Given the description of an element on the screen output the (x, y) to click on. 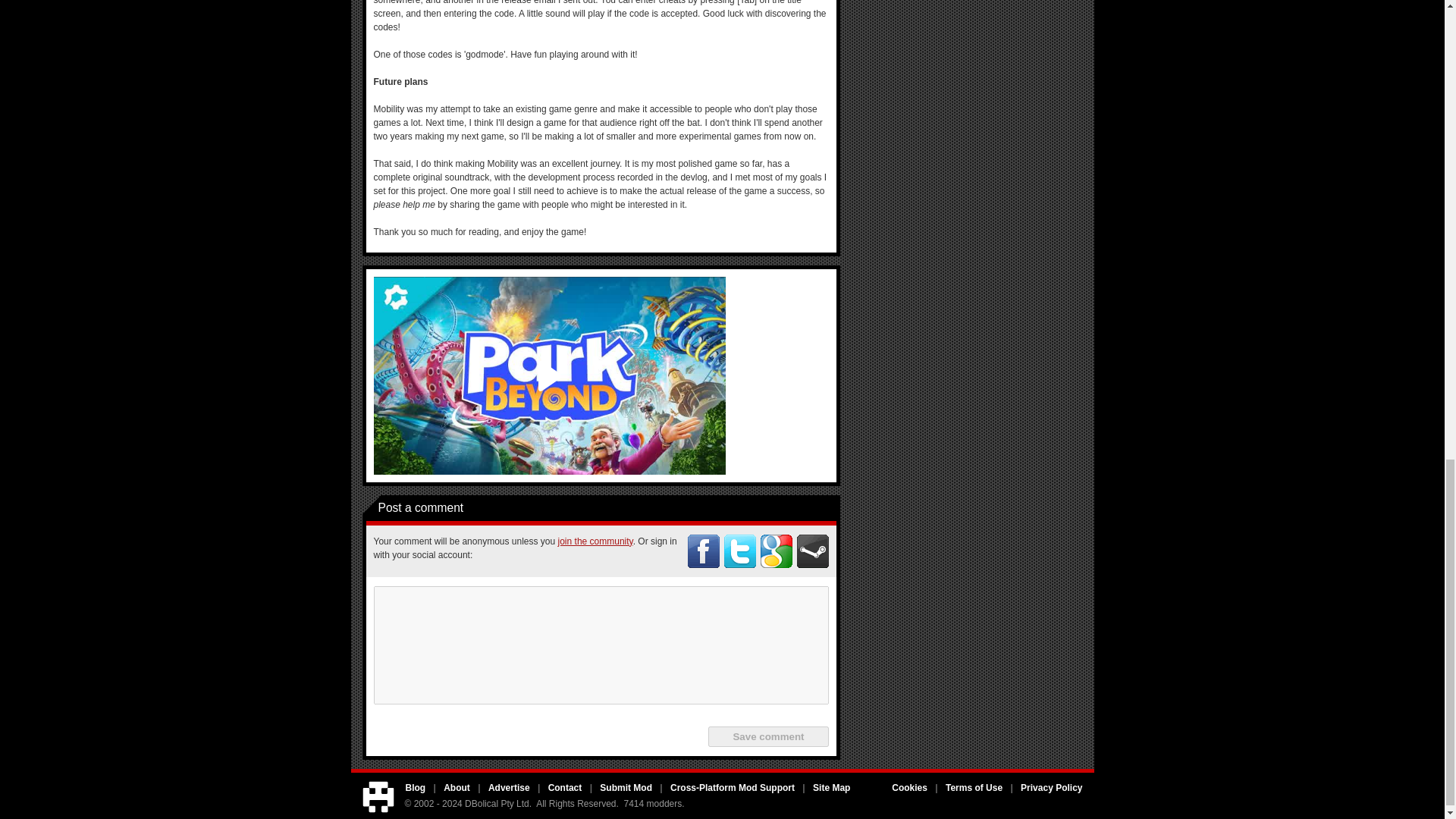
Save comment (767, 736)
Click to connect via Google (776, 551)
Click to connect via Steam (812, 551)
Click to connect via Twitter (739, 551)
